Given the description of an element on the screen output the (x, y) to click on. 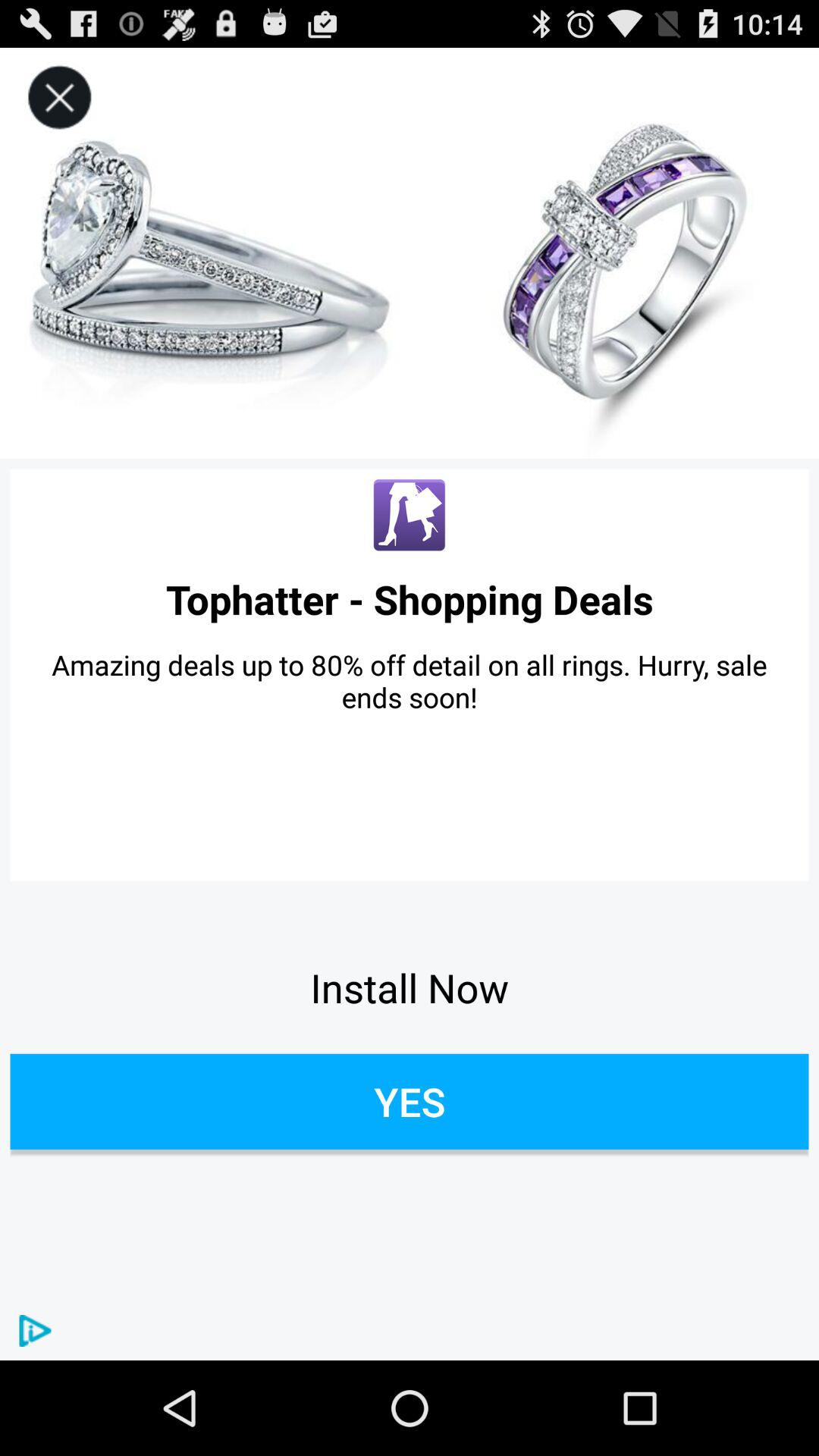
tap the install now item (409, 987)
